Given the description of an element on the screen output the (x, y) to click on. 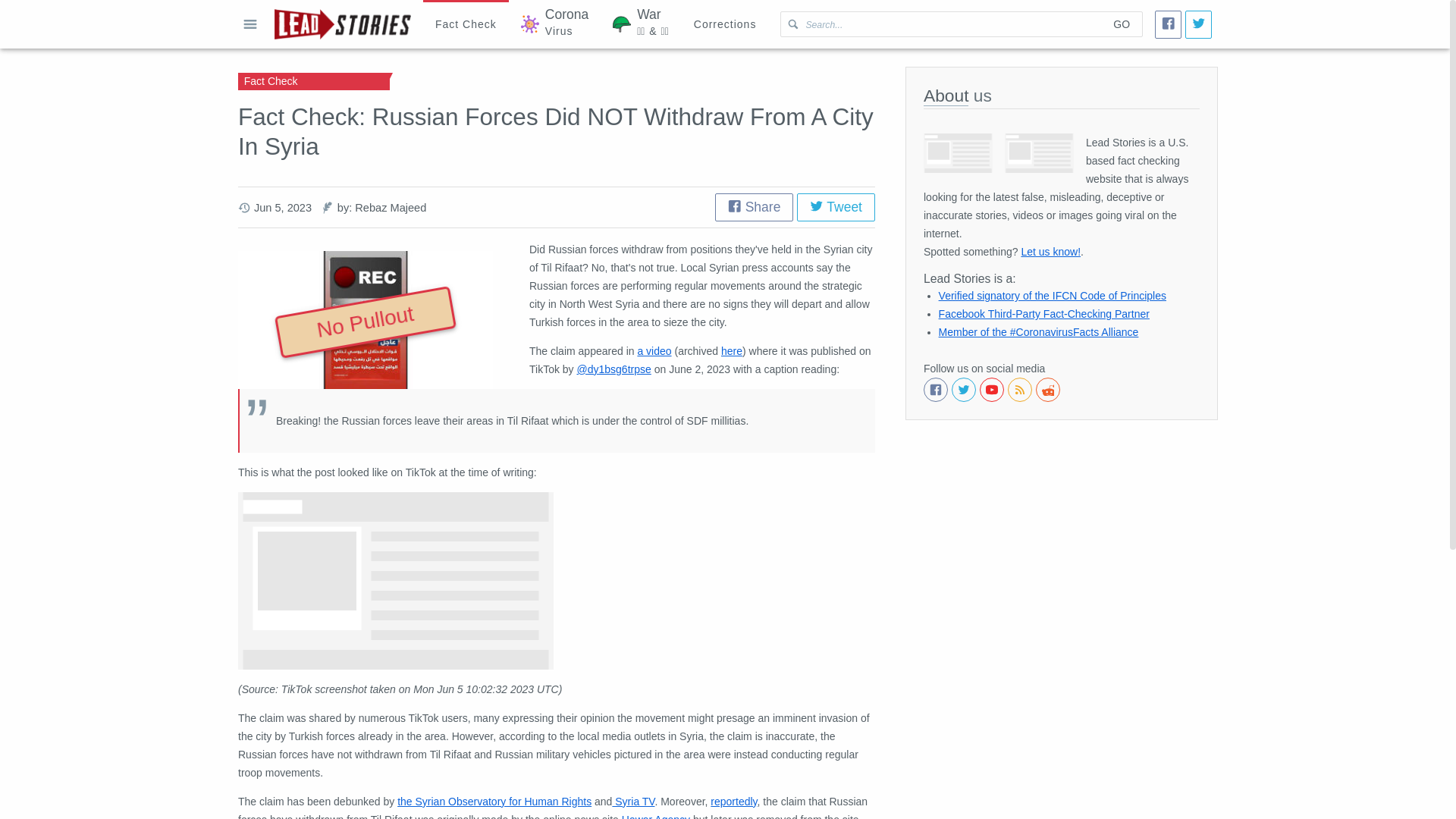
Syria TV (632, 801)
reportedly (733, 801)
GO (1120, 24)
a video (654, 350)
Hawar Agency (655, 816)
Let us know! (1050, 251)
Facebook Third-Party Fact-Checking Partner (1044, 313)
OPEN FULL MENU (250, 24)
Syria TV (632, 801)
Tweet (835, 207)
